Given the description of an element on the screen output the (x, y) to click on. 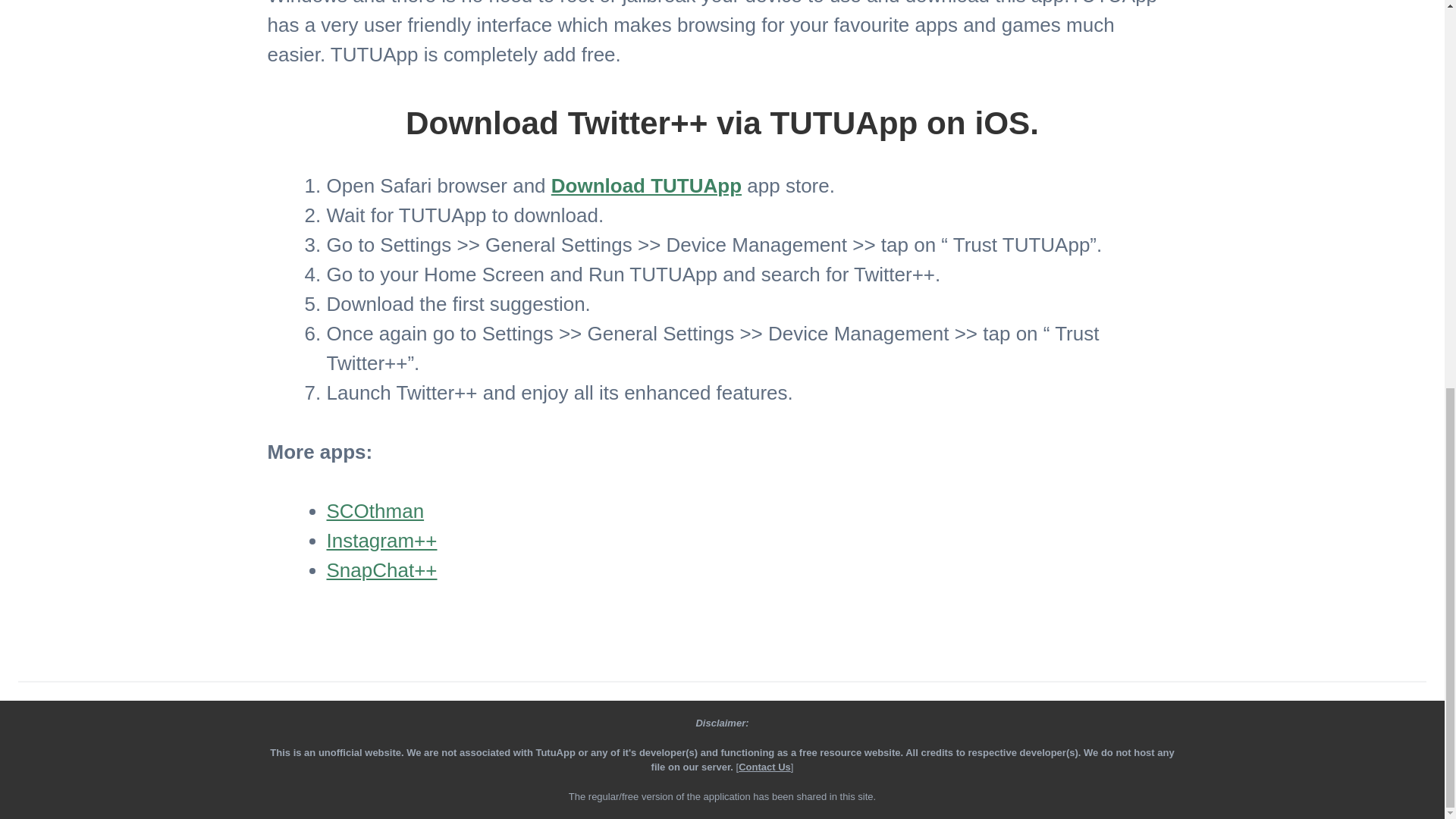
SCOthman (374, 510)
Download TUTUApp (646, 185)
Contact Us (764, 767)
